Given the description of an element on the screen output the (x, y) to click on. 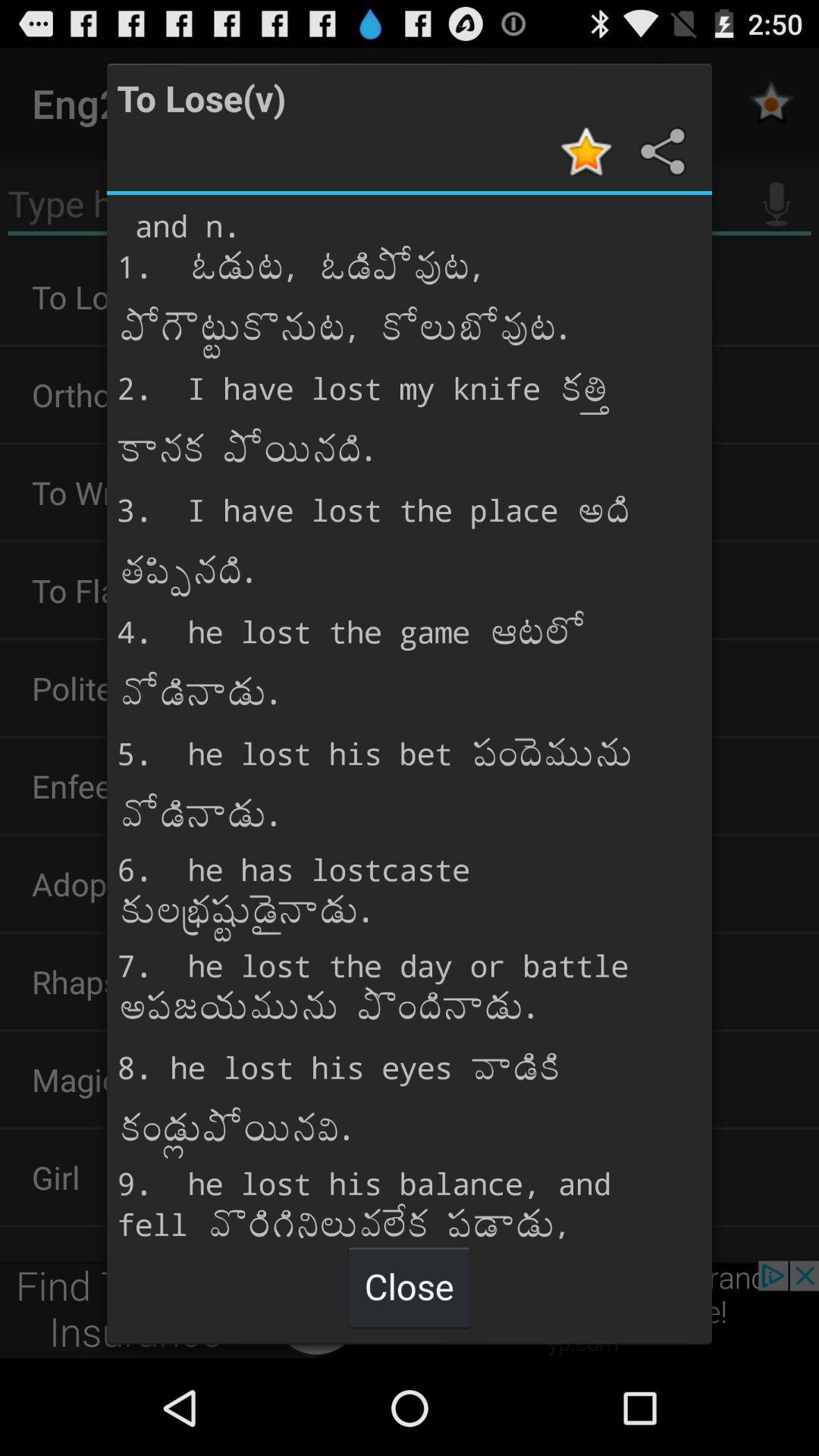
choose item below the and n 1 item (408, 1286)
